Given the description of an element on the screen output the (x, y) to click on. 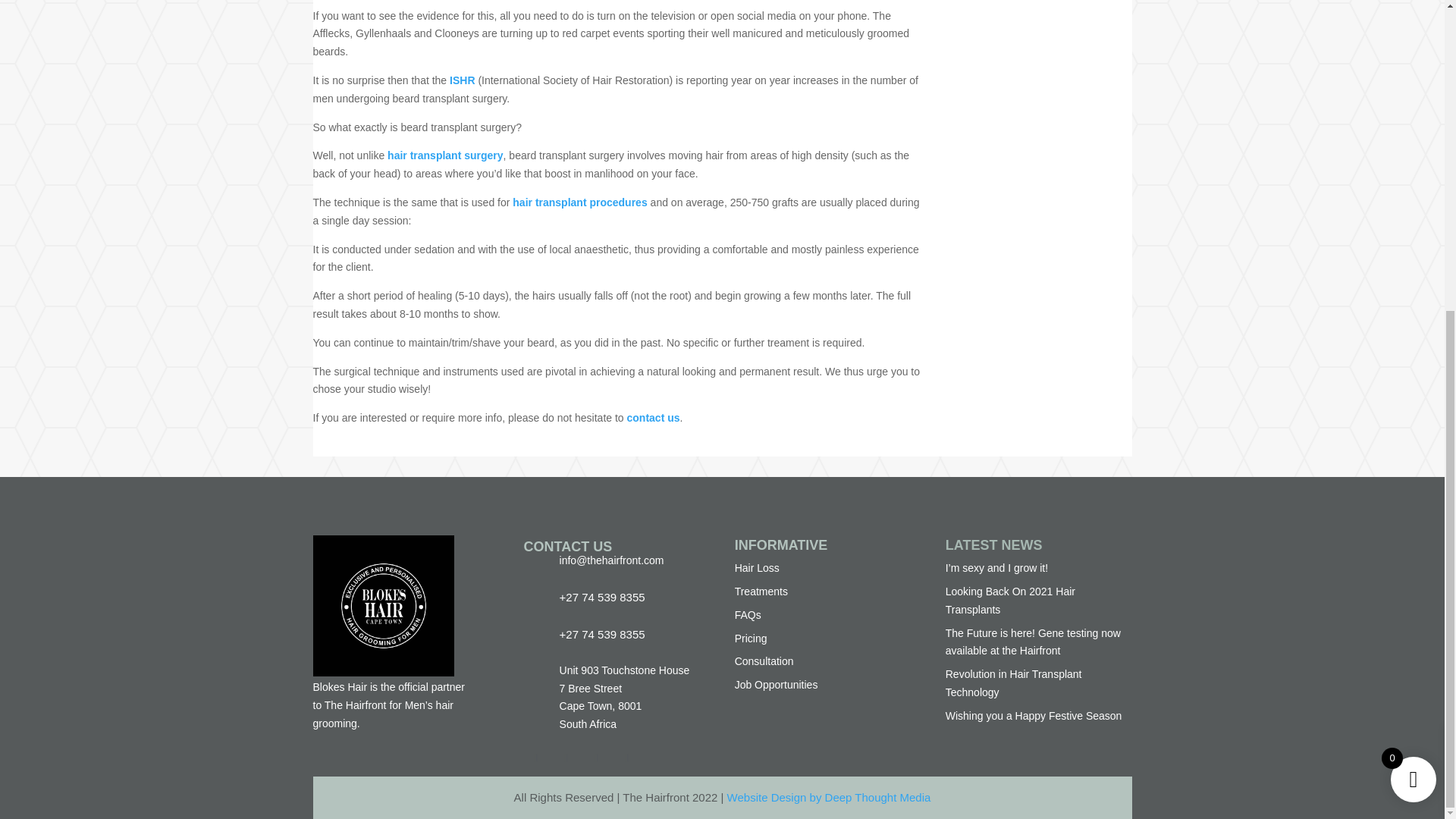
Follow on X (566, 758)
Follow on Youtube (626, 758)
Follow on Facebook (536, 758)
Blokes Logo (382, 605)
Digital Marketing Company Cape Town (828, 797)
Follow on Instagram (596, 758)
